Given the description of an element on the screen output the (x, y) to click on. 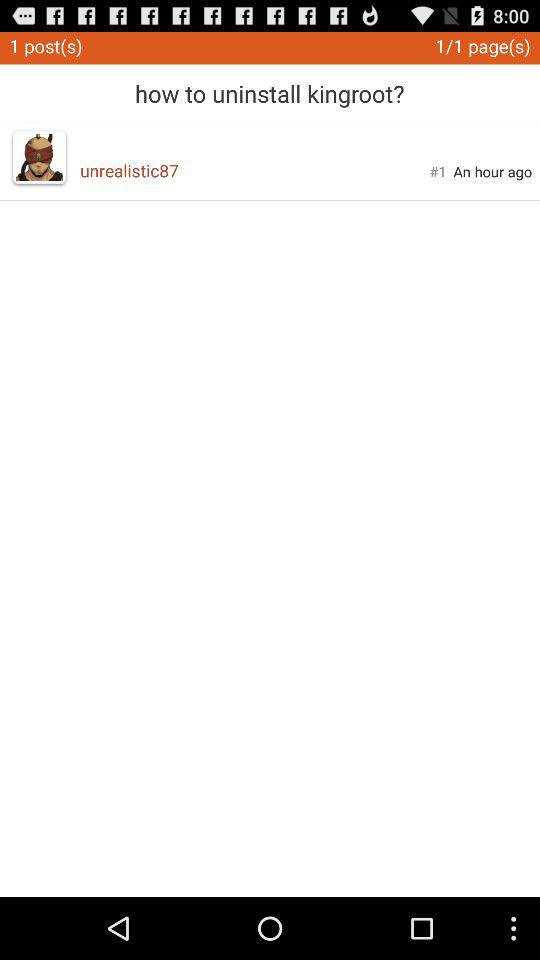
press the icon to the left of unrealistic87 app (39, 157)
